Given the description of an element on the screen output the (x, y) to click on. 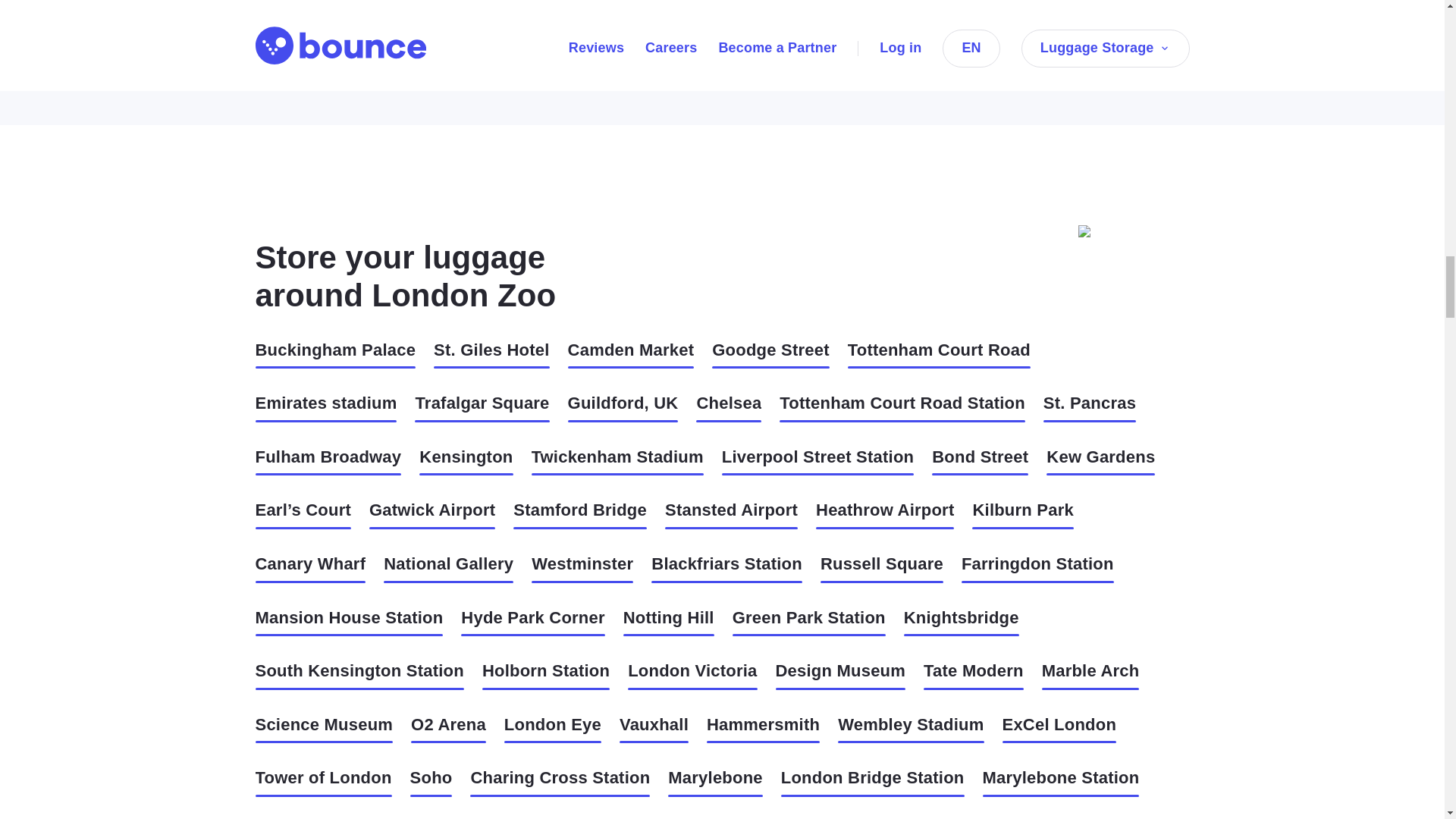
Stansted Airport (731, 514)
Kilburn Park (1022, 514)
Emirates stadium (325, 407)
Stamford Bridge (579, 514)
Twickenham Stadium (617, 460)
St. Giles Hotel (490, 354)
Tottenham Court Road (938, 354)
Fulham Broadway (327, 460)
Guildford, UK (622, 407)
Gatwick Airport (432, 514)
Liverpool Street Station (818, 460)
Trafalgar Square (481, 407)
Kensington (465, 460)
Goodge Street (769, 354)
Heathrow Airport (884, 514)
